Given the description of an element on the screen output the (x, y) to click on. 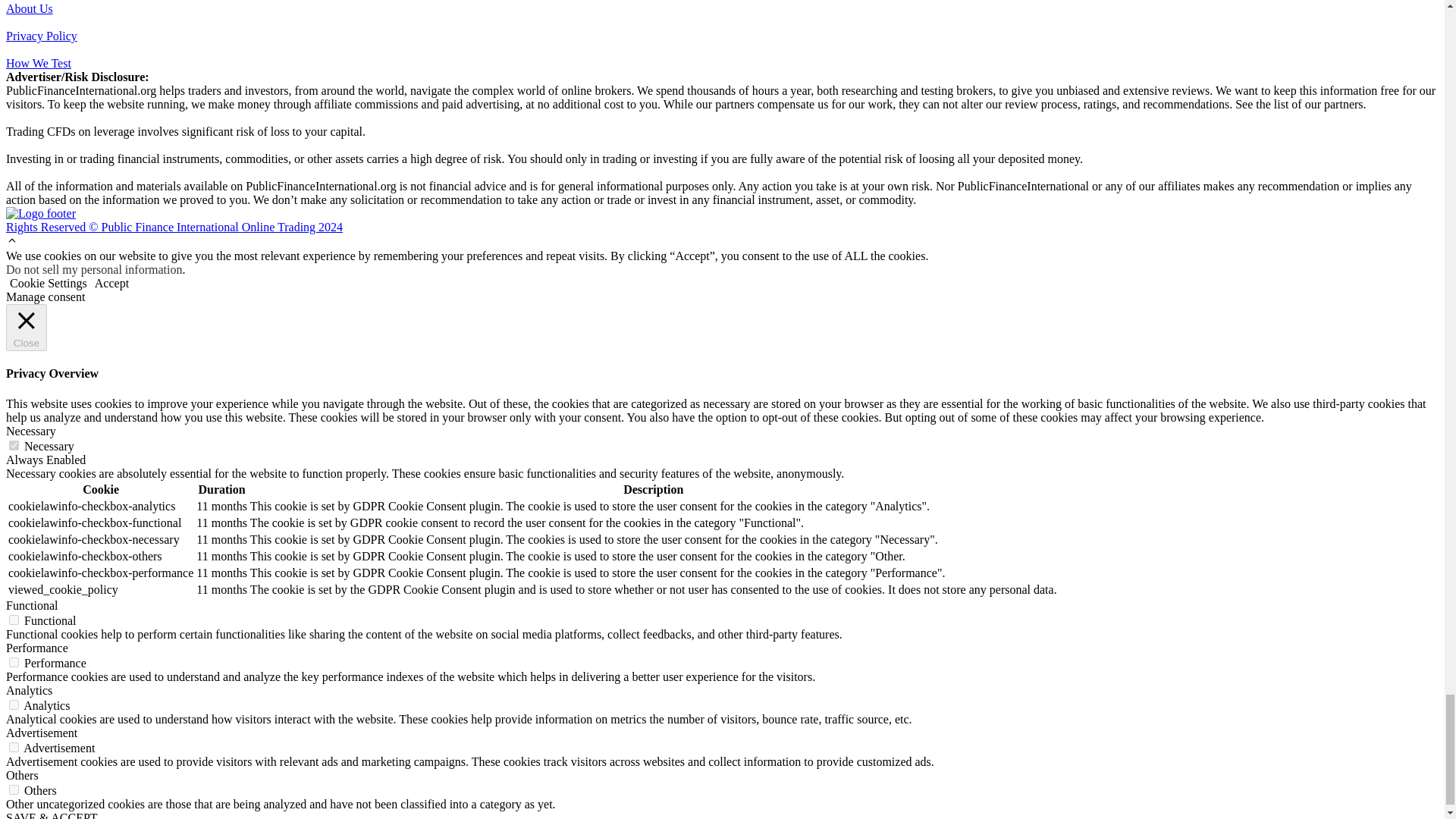
on (13, 705)
on (13, 445)
on (13, 747)
on (13, 662)
on (13, 789)
on (13, 619)
